Given the description of an element on the screen output the (x, y) to click on. 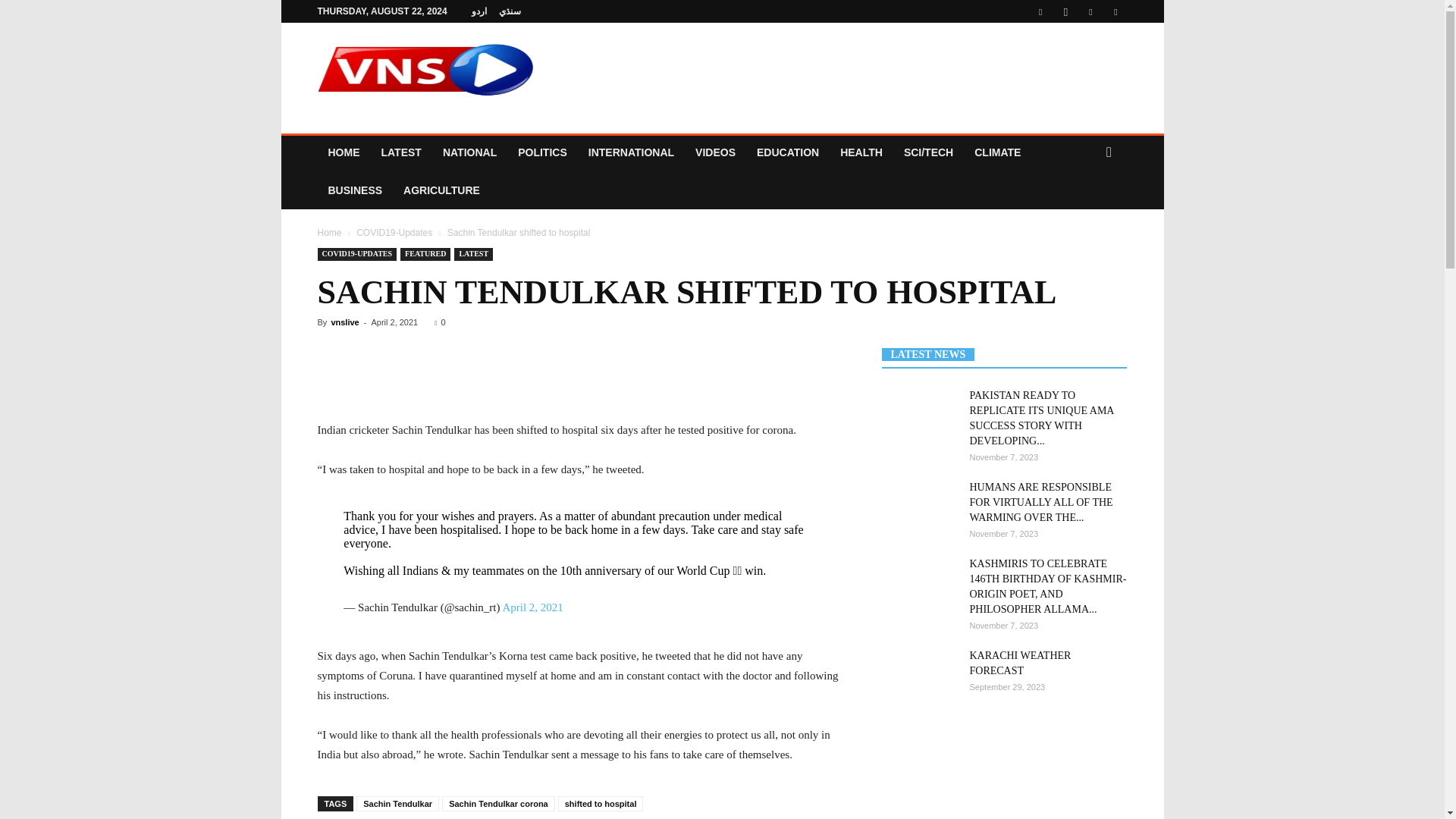
View all posts in COVID19-Updates (394, 232)
HEALTH (861, 152)
Youtube (1114, 11)
NATIONAL (469, 152)
LATEST (399, 152)
HOME (343, 152)
EDUCATION (787, 152)
Twitter (1090, 11)
POLITICS (542, 152)
VIDEOS (714, 152)
